Given the description of an element on the screen output the (x, y) to click on. 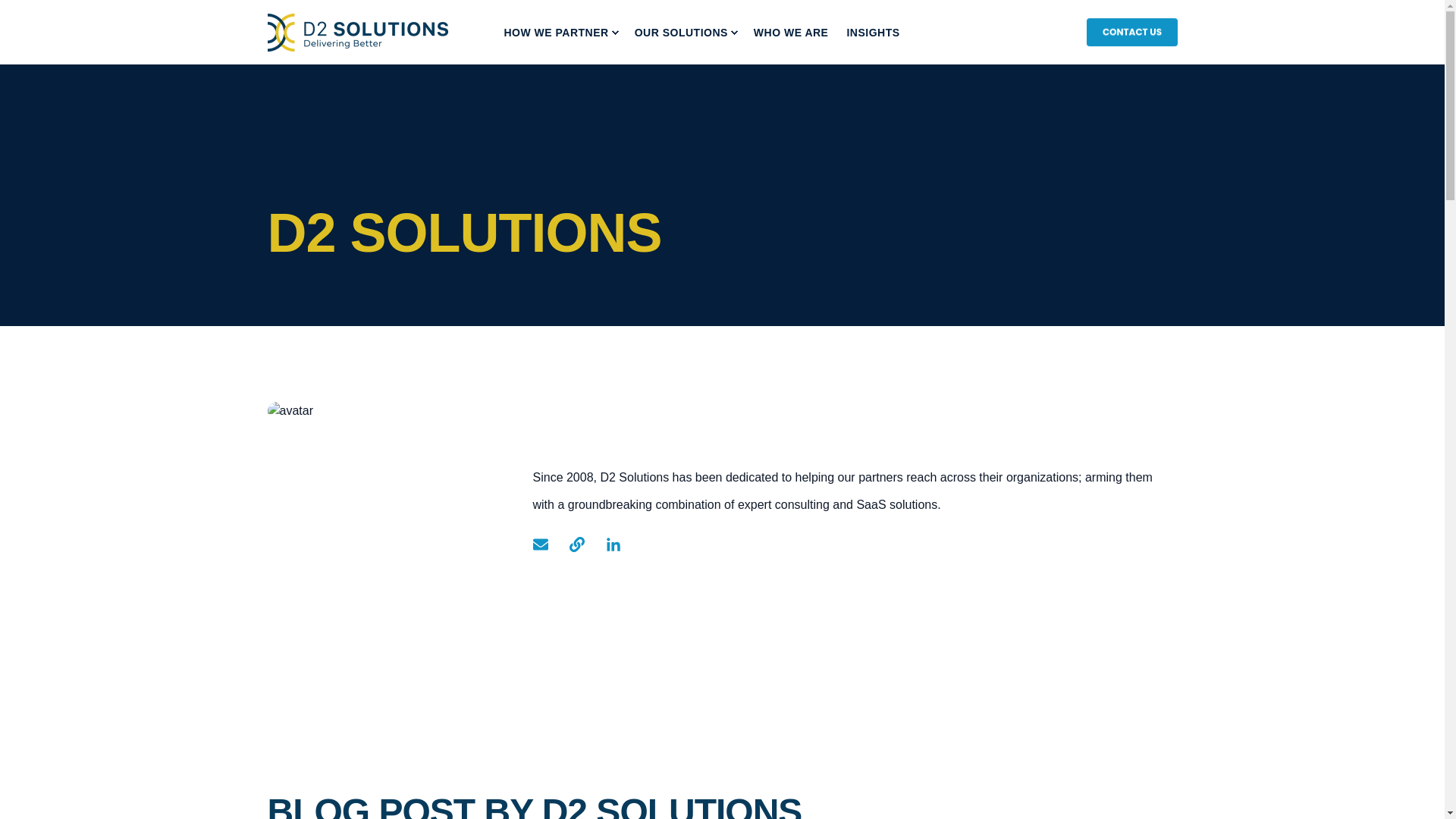
HOW WE PARTNER (559, 32)
logo (356, 32)
OUR SOLUTIONS (685, 32)
